Given the description of an element on the screen output the (x, y) to click on. 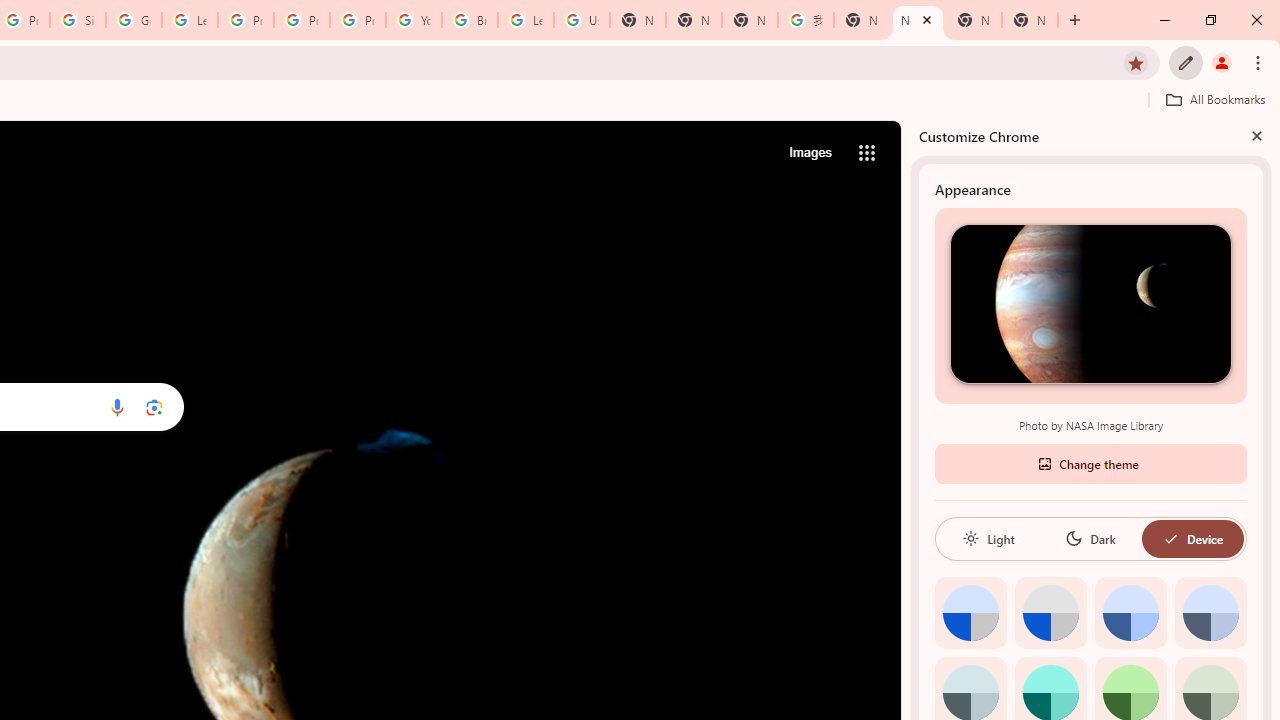
All Bookmarks (1215, 99)
YouTube (413, 20)
Photo by NASA Image Library (1090, 303)
Privacy Help Center - Policies Help (245, 20)
Customize Chrome (1185, 62)
